Given the description of an element on the screen output the (x, y) to click on. 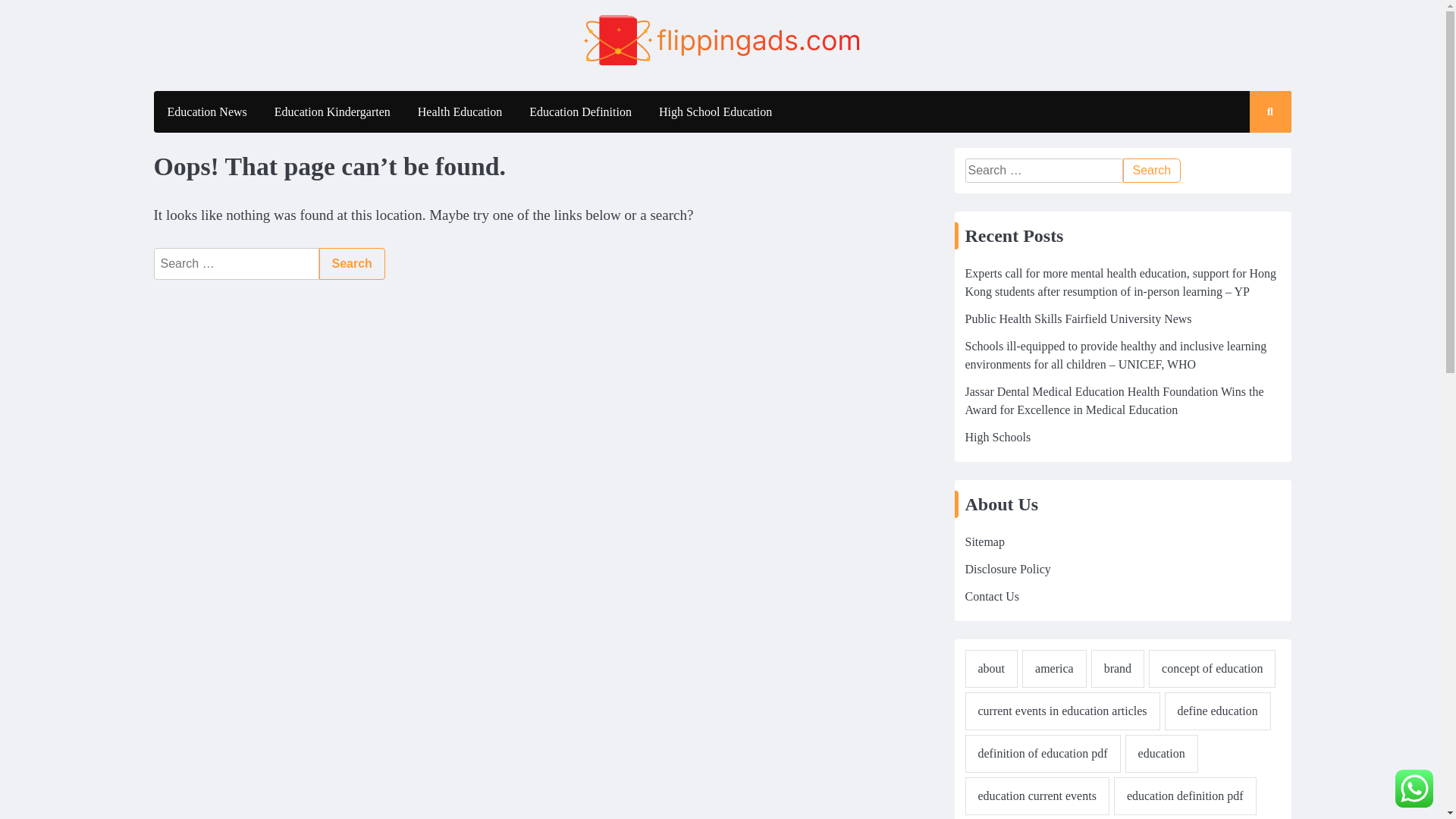
Search (1151, 170)
concept of education (1211, 668)
Contact Us (991, 595)
Search (1151, 170)
Education News (206, 111)
Sitemap (983, 541)
Public Health Skills Fairfield University News (1077, 318)
about (990, 668)
education definition pdf (1184, 795)
